Given the description of an element on the screen output the (x, y) to click on. 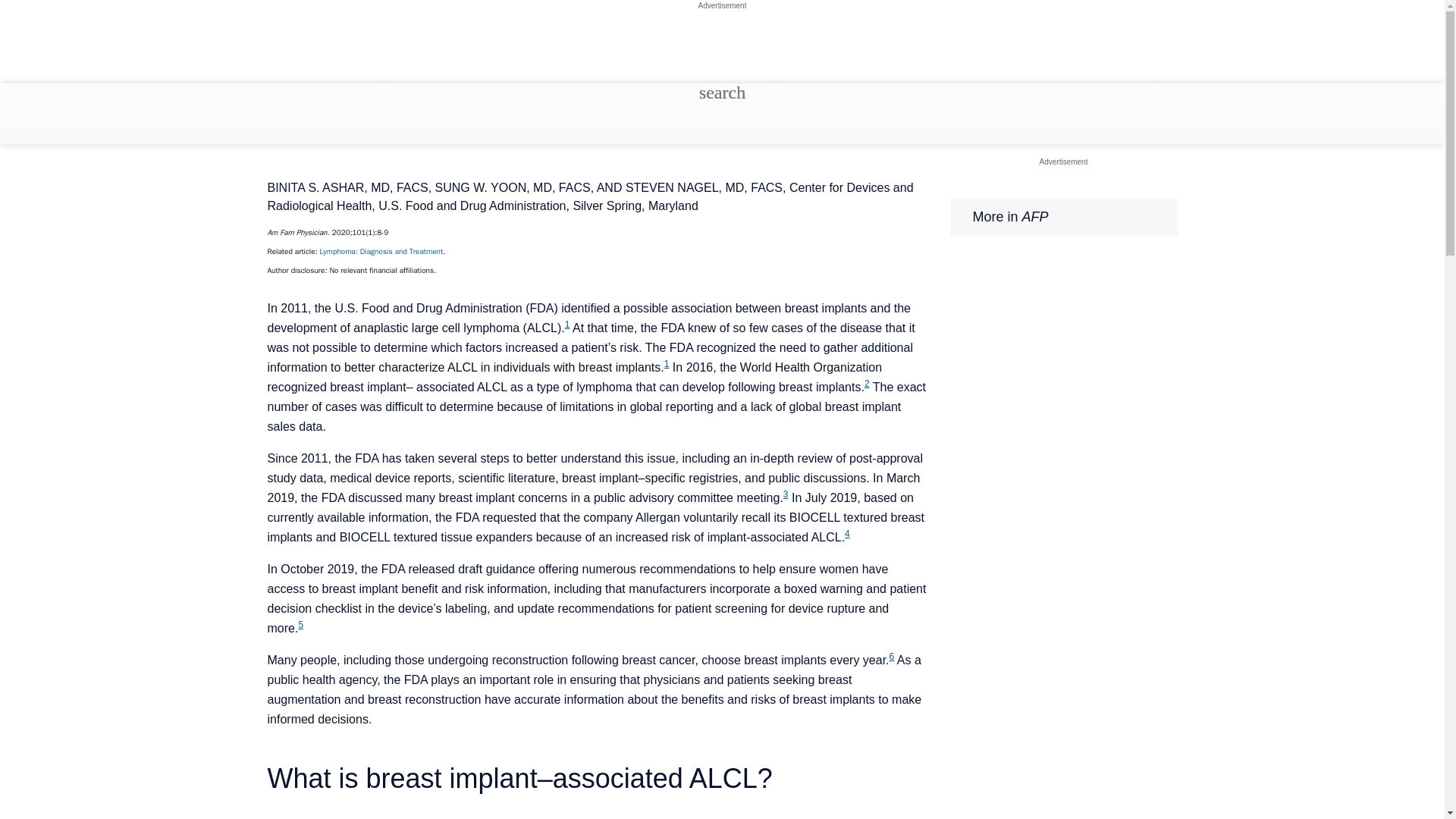
Advertisement (722, 5)
Advertisement (1063, 162)
Lymphoma: Diagnosis and Treatment (382, 251)
